Given the description of an element on the screen output the (x, y) to click on. 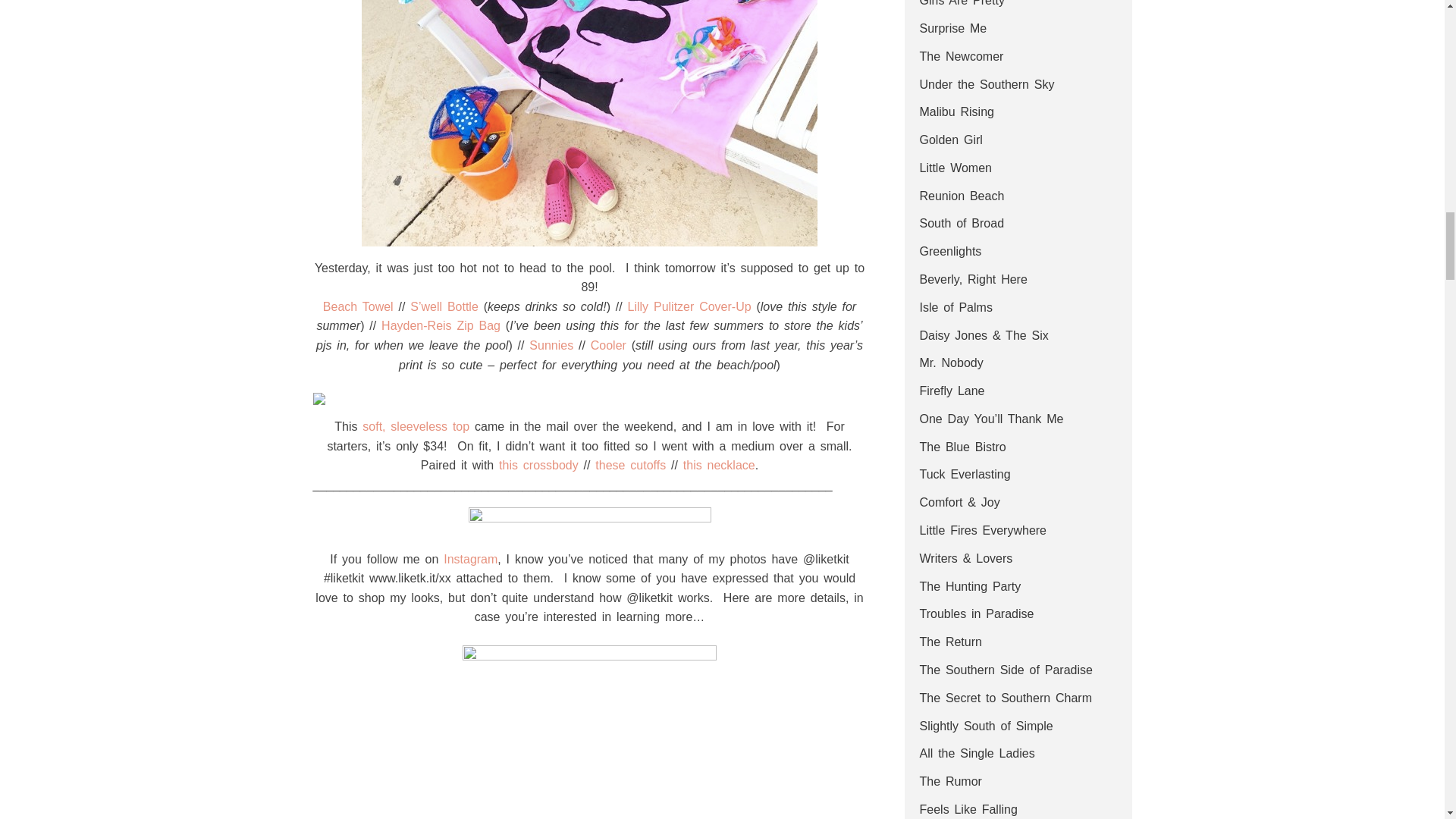
these cutoffs (630, 464)
Cooler (608, 345)
Lilly Pulitzer Cover-Up (689, 306)
Beach Towel (358, 306)
Instagram (470, 558)
Hayden-Reis Zip Bag (440, 325)
soft, sleeveless top (415, 426)
this crossbody (538, 464)
Sunnies (551, 345)
this necklace (718, 464)
